Given the description of an element on the screen output the (x, y) to click on. 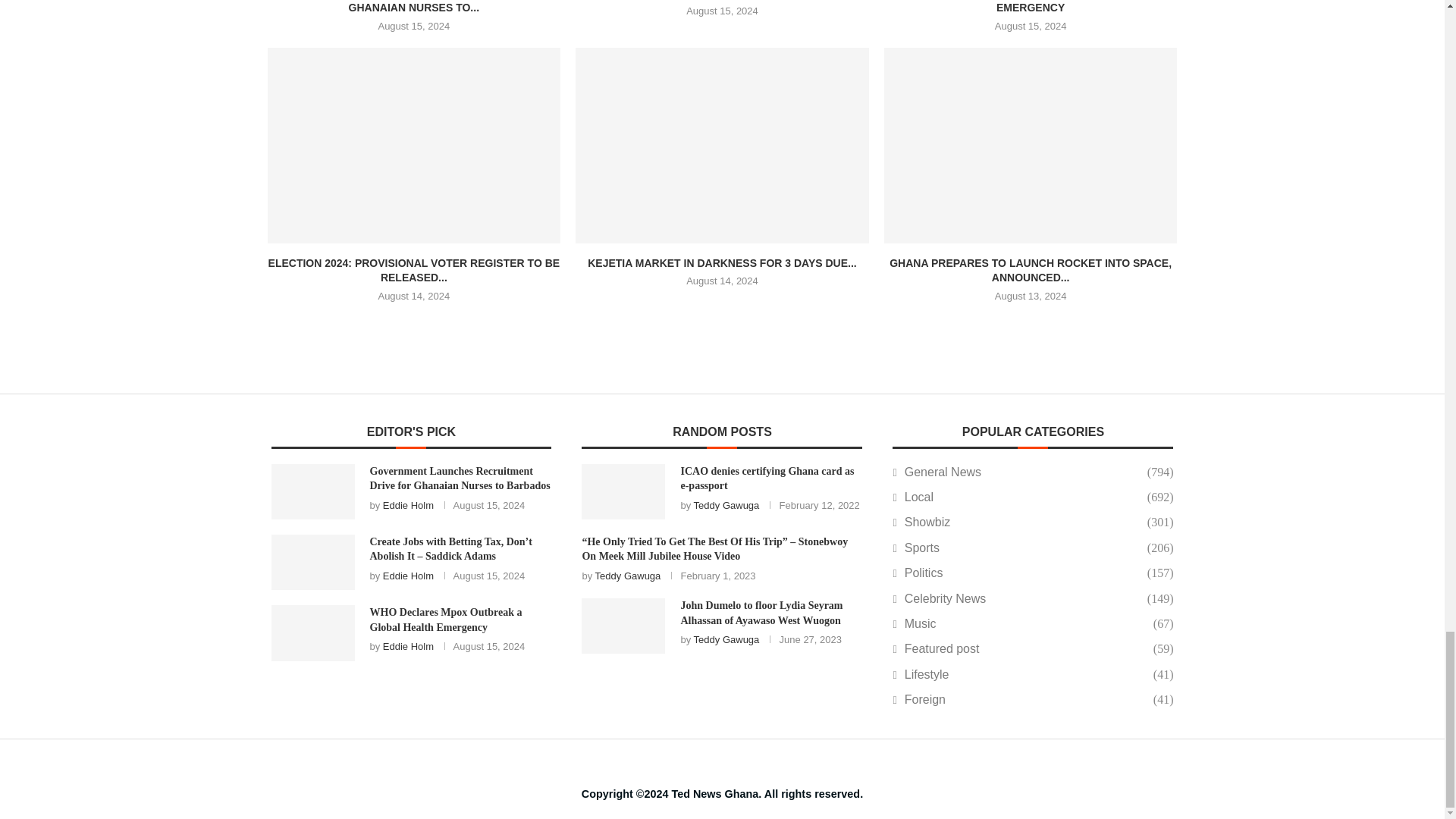
WHO Declares Mpox Outbreak a Global Health Emergency (312, 632)
